Given the description of an element on the screen output the (x, y) to click on. 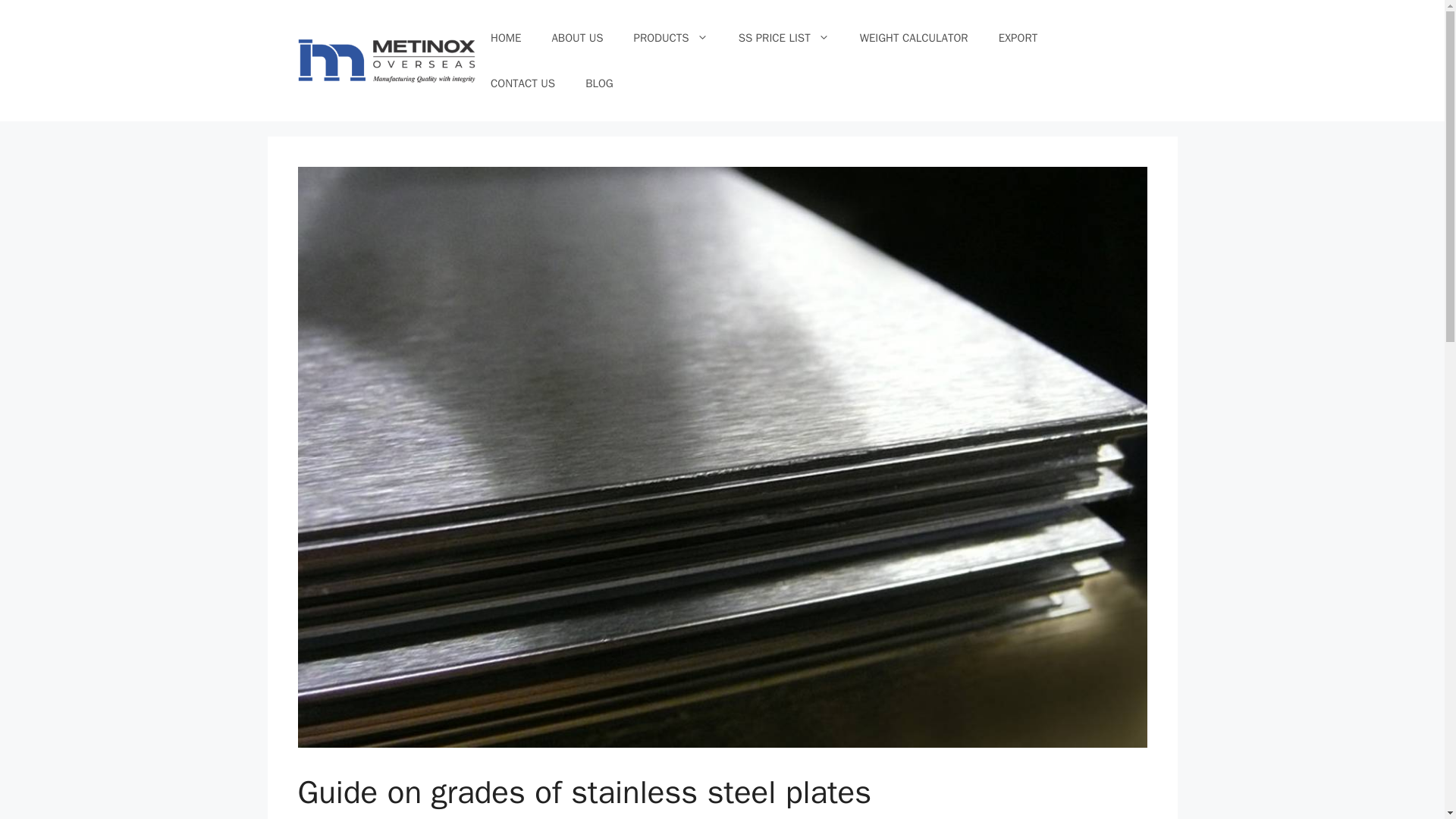
CONTACT US (523, 83)
EXPORT (1018, 37)
Metinox Overseas (454, 818)
View all posts by Metinox Overseas (454, 818)
PRODUCTS (670, 37)
Leading Steel Products Supplier in India (386, 60)
SS PRICE LIST (783, 37)
ABOUT US (576, 37)
WEIGHT CALCULATOR (914, 37)
Leading Steel Products Supplier in India (386, 59)
BLOG (599, 83)
HOME (505, 37)
